Given the description of an element on the screen output the (x, y) to click on. 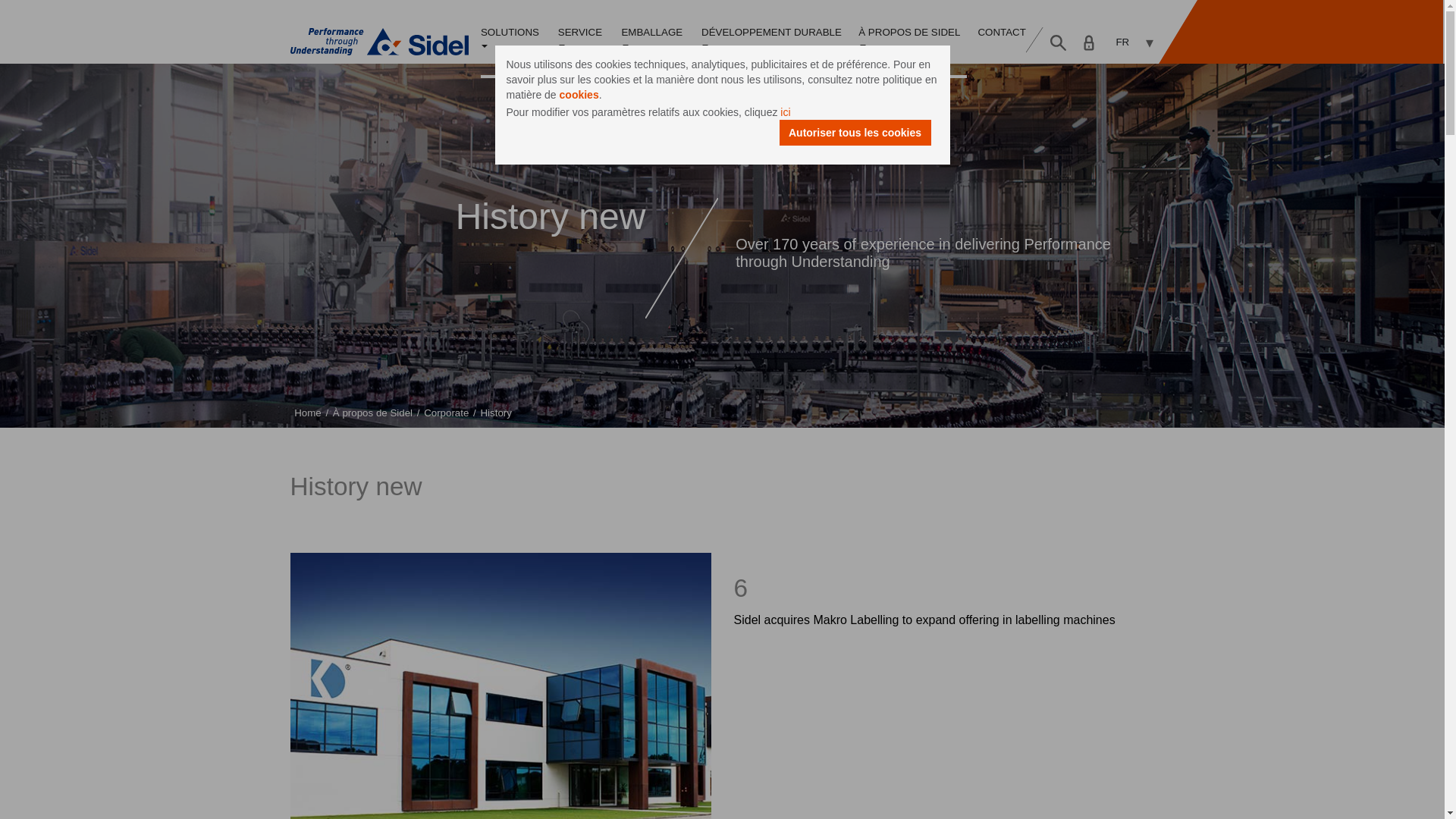
cookies (578, 94)
